Given the description of an element on the screen output the (x, y) to click on. 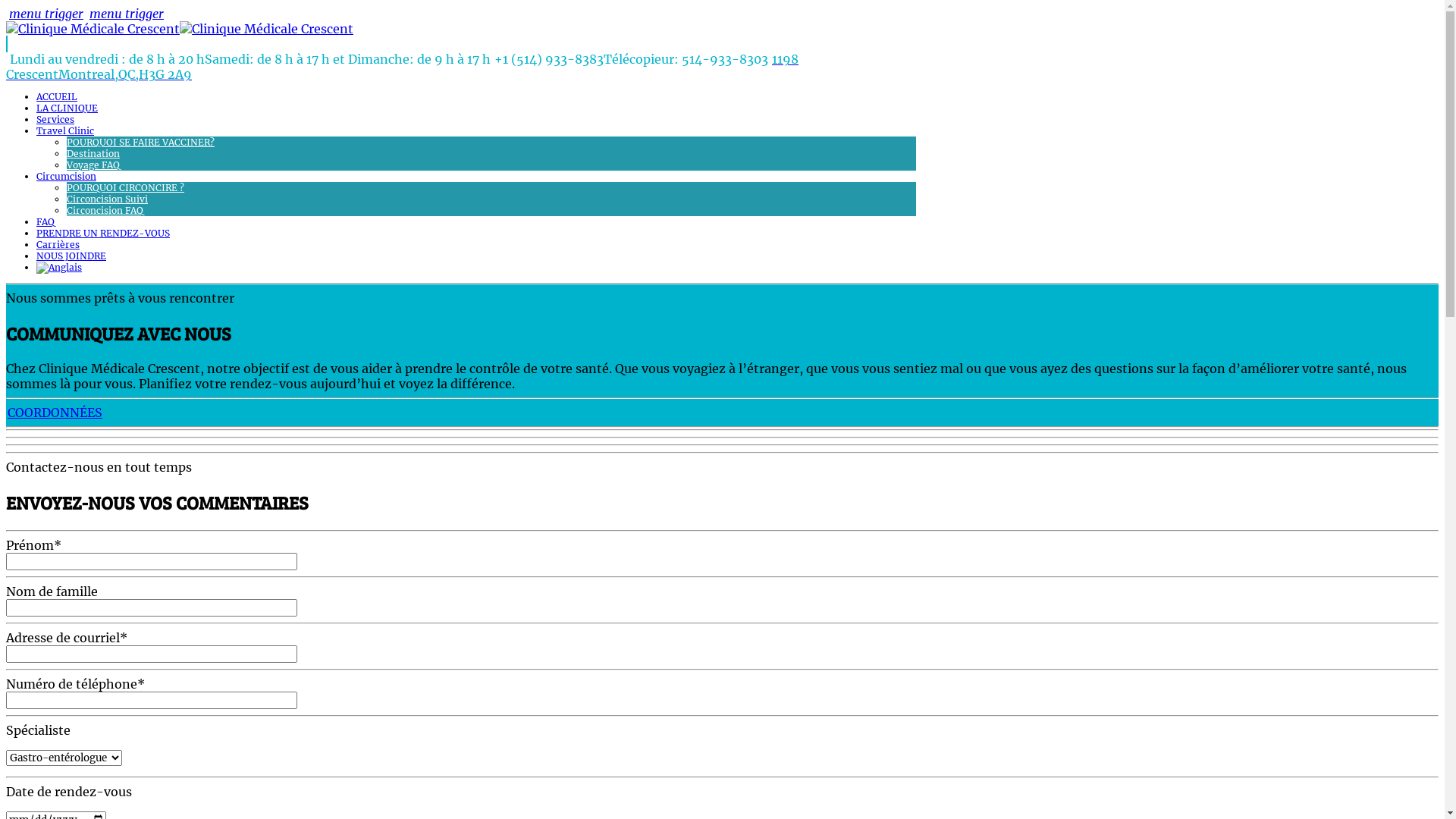
menu trigger Element type: text (126, 13)
1198 CrescentMontreal,QC,H3G 2A9 Element type: text (402, 66)
PRENDRE UN RENDEZ-VOUS Element type: text (102, 232)
POURQUOI CIRCONCIRE ? Element type: text (125, 187)
FAQ Element type: text (45, 221)
menu trigger Element type: text (46, 13)
Circumcision Element type: text (66, 176)
NOUS JOINDRE Element type: text (71, 255)
Destination Element type: text (92, 153)
Circoncision FAQ Element type: text (104, 210)
Voyage FAQ Element type: text (92, 164)
LA CLINIQUE Element type: text (66, 107)
Travel Clinic Element type: text (65, 130)
POURQUOI SE FAIRE VACCINER? Element type: text (140, 141)
ACCUEIL Element type: text (56, 96)
Circoncision Suivi Element type: text (106, 198)
Services Element type: text (55, 119)
